Given the description of an element on the screen output the (x, y) to click on. 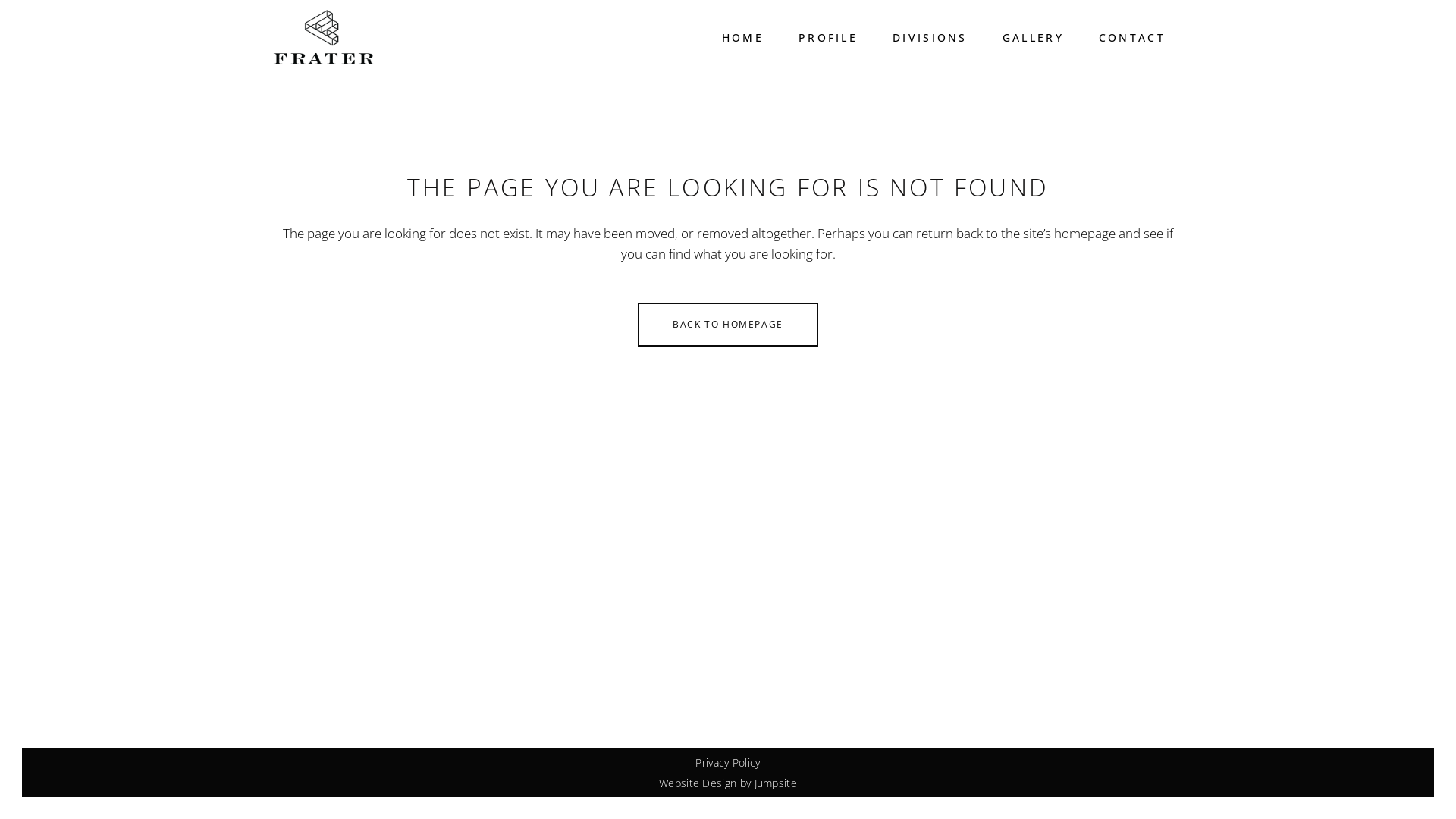
BACK TO HOMEPAGE Element type: text (727, 324)
PROFILE Element type: text (828, 37)
HOME Element type: text (742, 37)
Jumpsite Element type: text (774, 782)
Privacy Policy Element type: text (727, 762)
DIVISIONS Element type: text (930, 37)
CONTACT Element type: text (1132, 37)
GALLERY Element type: text (1033, 37)
